Given the description of an element on the screen output the (x, y) to click on. 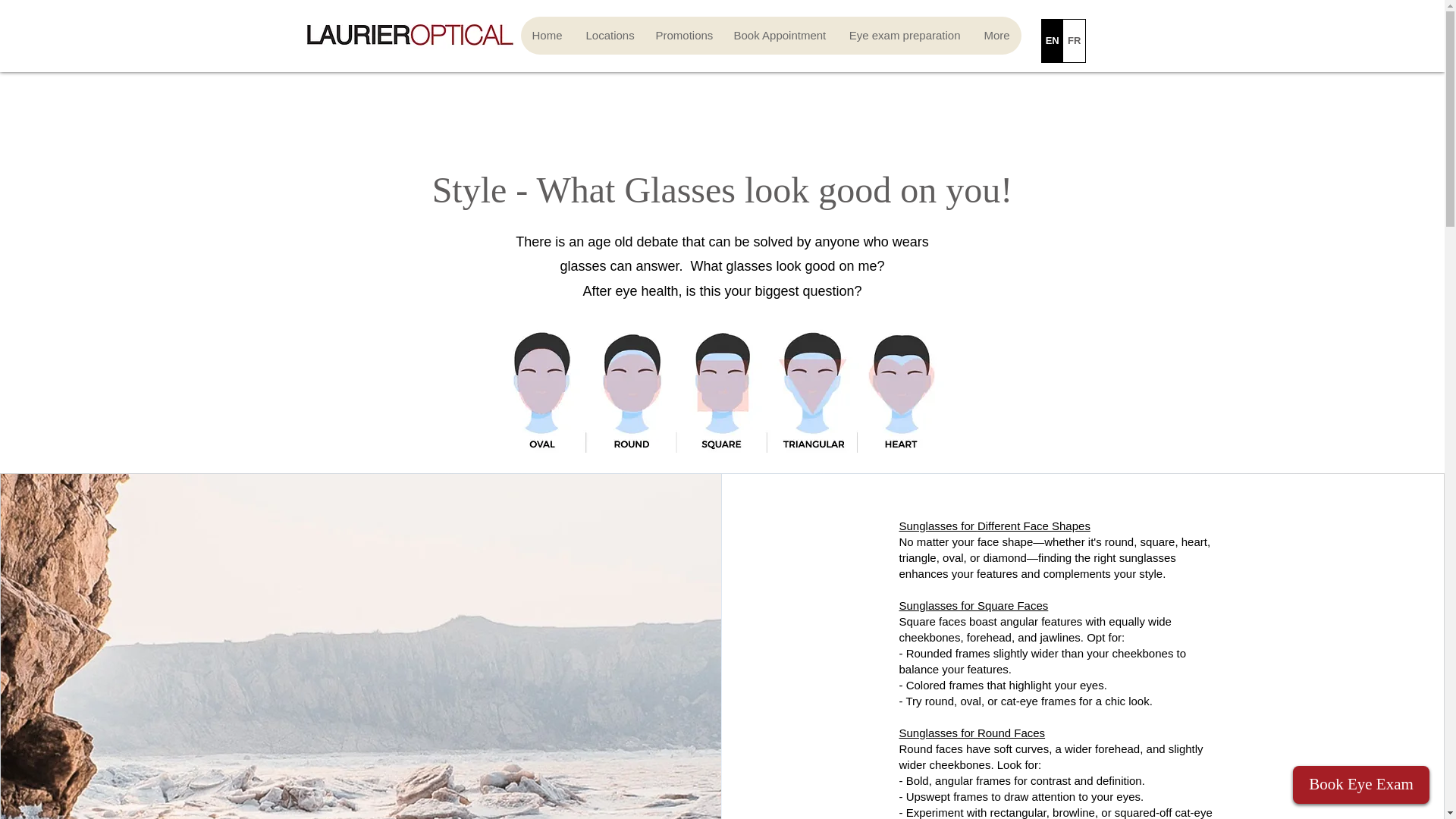
shapeofmyface.png (720, 386)
Eye exam preparation (904, 35)
Promotions (681, 35)
Book Appointment (779, 35)
Home (546, 35)
Locations (608, 35)
